Given the description of an element on the screen output the (x, y) to click on. 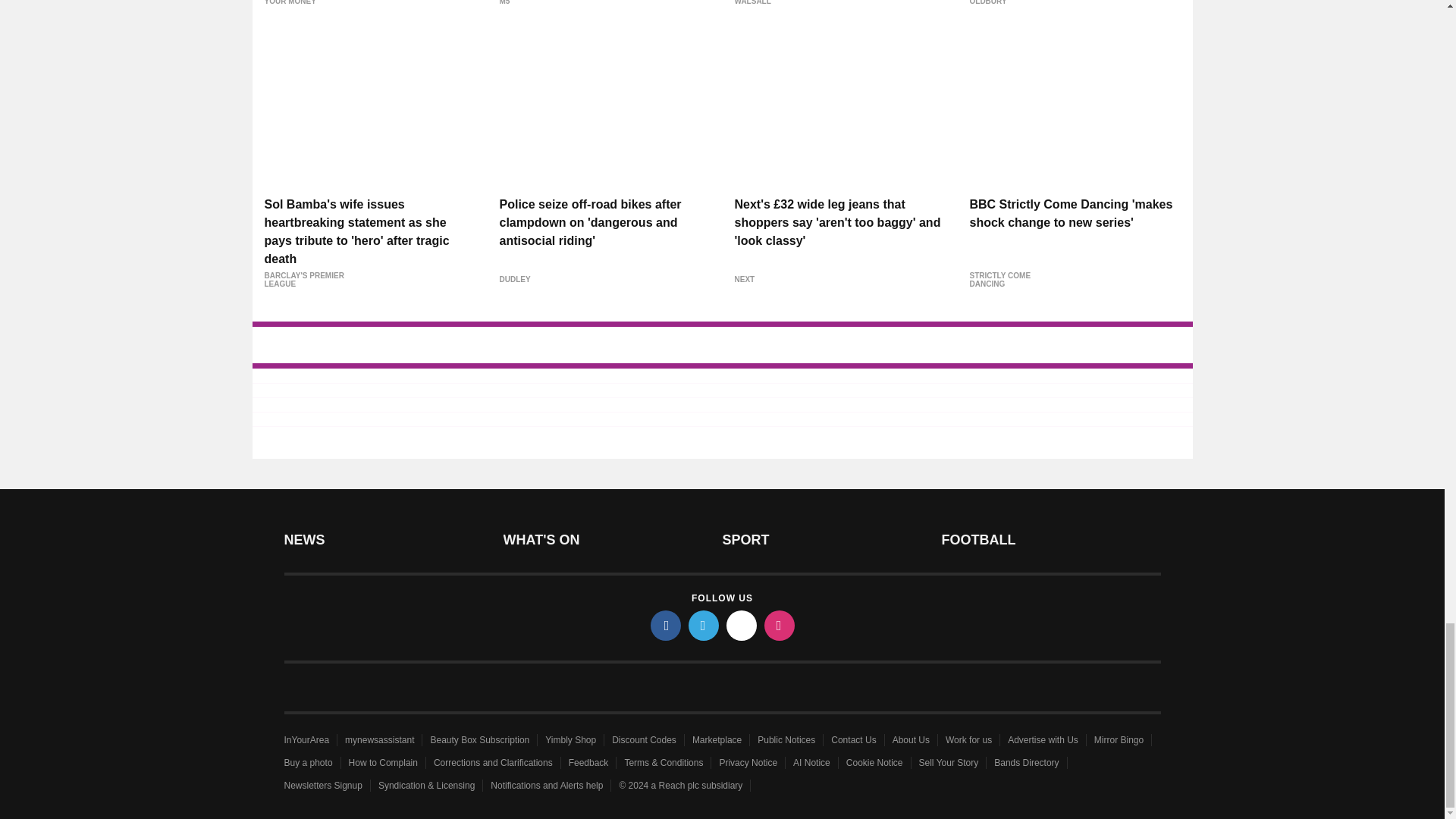
facebook (665, 625)
instagram (779, 625)
twitter (703, 625)
tiktok (741, 625)
